Given the description of an element on the screen output the (x, y) to click on. 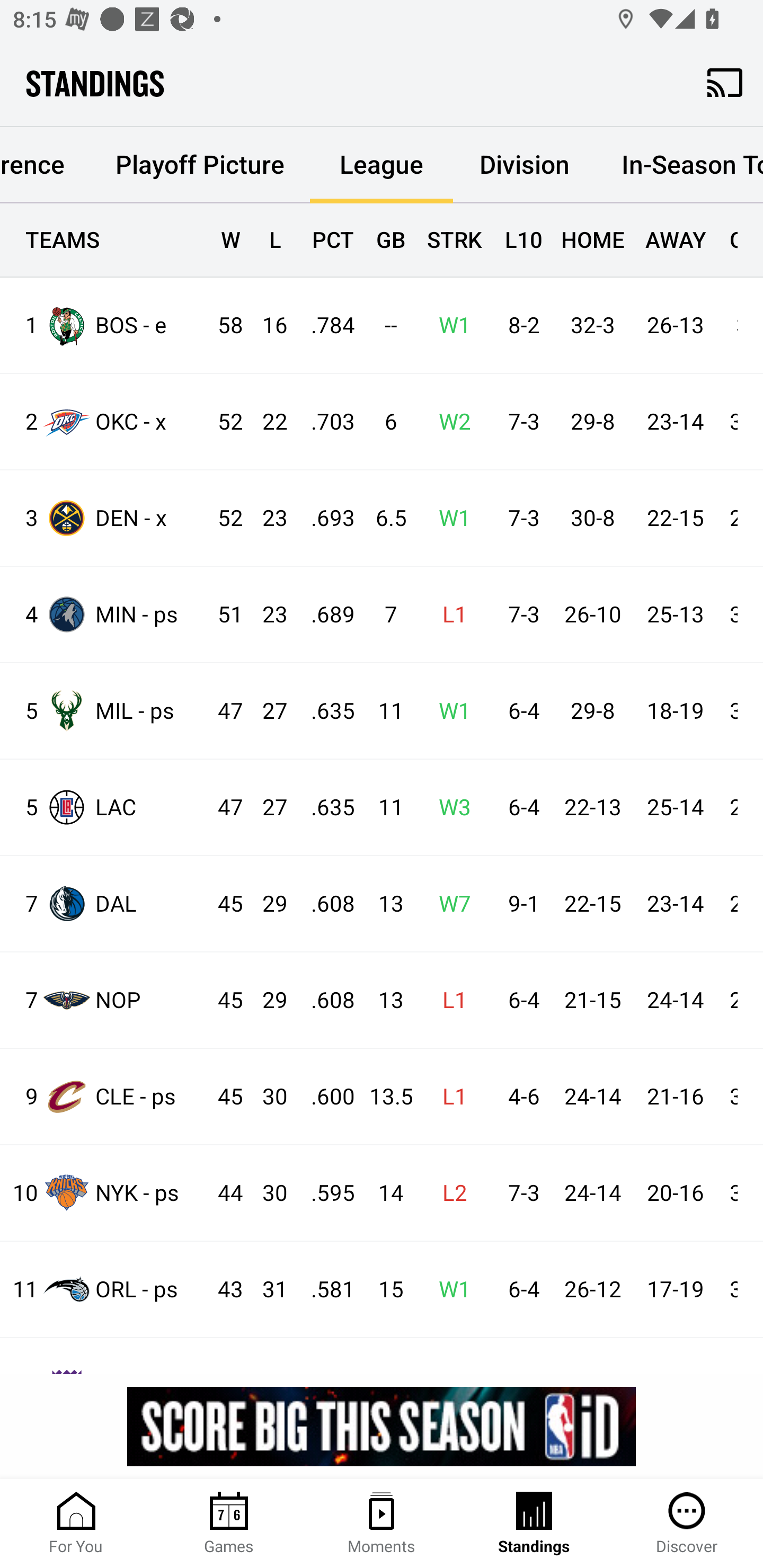
Cast. Disconnected (724, 82)
Conference (45, 165)
Playoff Picture (199, 165)
Division (524, 165)
In-Season Tournament (679, 165)
1 BOS - e (104, 325)
16 (265, 324)
.784 (323, 324)
-- (382, 324)
W1 (449, 324)
8-2 (518, 324)
32-3 (592, 324)
26-13 (675, 324)
2 OKC - x (104, 421)
22 (265, 422)
.703 (323, 422)
6 (382, 422)
W2 (449, 422)
7-3 (518, 422)
29-8 (592, 422)
23-14 (675, 422)
3 DEN - x (104, 518)
23 (265, 517)
.693 (323, 517)
6.5 (382, 517)
W1 (449, 517)
7-3 (518, 517)
30-8 (592, 517)
22-15 (675, 517)
4 MIN - ps (104, 613)
23 (265, 615)
.689 (323, 615)
7 (382, 615)
L1 (449, 615)
7-3 (518, 615)
26-10 (592, 615)
25-13 (675, 615)
5 MIL - ps (104, 710)
27 (265, 710)
.635 (323, 710)
11 (382, 710)
W1 (449, 710)
6-4 (518, 710)
29-8 (592, 710)
18-19 (675, 710)
5 LAC (104, 806)
27 (265, 807)
.635 (323, 807)
11 (382, 807)
W3 (449, 807)
6-4 (518, 807)
22-13 (592, 807)
25-14 (675, 807)
7 DAL (104, 903)
29 (265, 903)
.608 (323, 903)
13 (382, 903)
W7 (449, 903)
9-1 (518, 903)
22-15 (592, 903)
23-14 (675, 903)
7 NOP (104, 999)
29 (265, 1000)
.608 (323, 1000)
13 (382, 1000)
L1 (449, 1000)
6-4 (518, 1000)
21-15 (592, 1000)
24-14 (675, 1000)
9 CLE - ps (104, 1096)
30 (265, 1096)
.600 (323, 1096)
13.5 (382, 1096)
L1 (449, 1096)
4-6 (518, 1096)
24-14 (592, 1096)
21-16 (675, 1096)
10 NYK - ps (104, 1192)
30 (265, 1192)
.595 (323, 1192)
14 (382, 1192)
L2 (449, 1192)
7-3 (518, 1192)
24-14 (592, 1192)
20-16 (675, 1192)
11 ORL - ps (104, 1289)
31 (265, 1289)
.581 (323, 1289)
15 (382, 1289)
W1 (449, 1289)
6-4 (518, 1289)
26-12 (592, 1289)
17-19 (675, 1289)
g5nqqygr7owph (381, 1426)
For You (76, 1523)
Games (228, 1523)
Moments (381, 1523)
Discover (686, 1523)
